Given the description of an element on the screen output the (x, y) to click on. 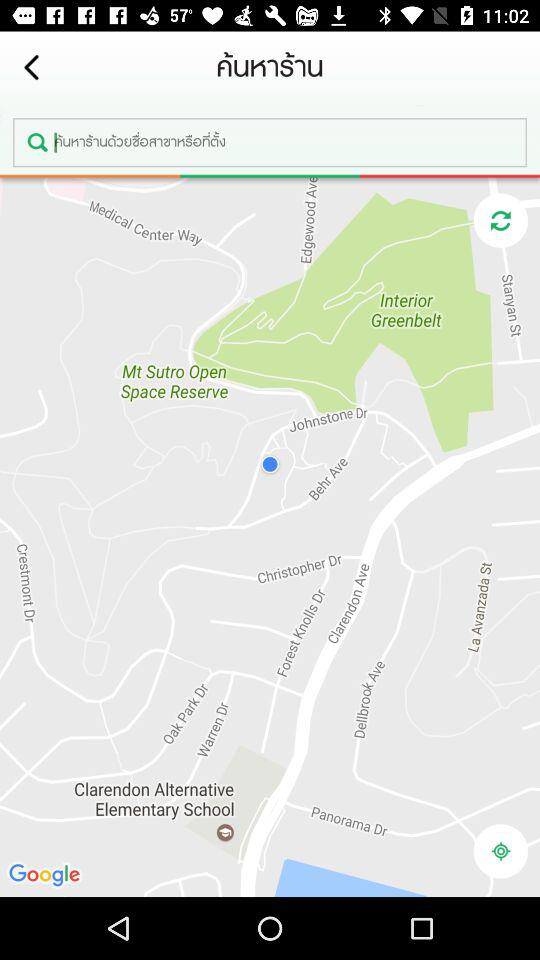
refresh the page (500, 220)
